Given the description of an element on the screen output the (x, y) to click on. 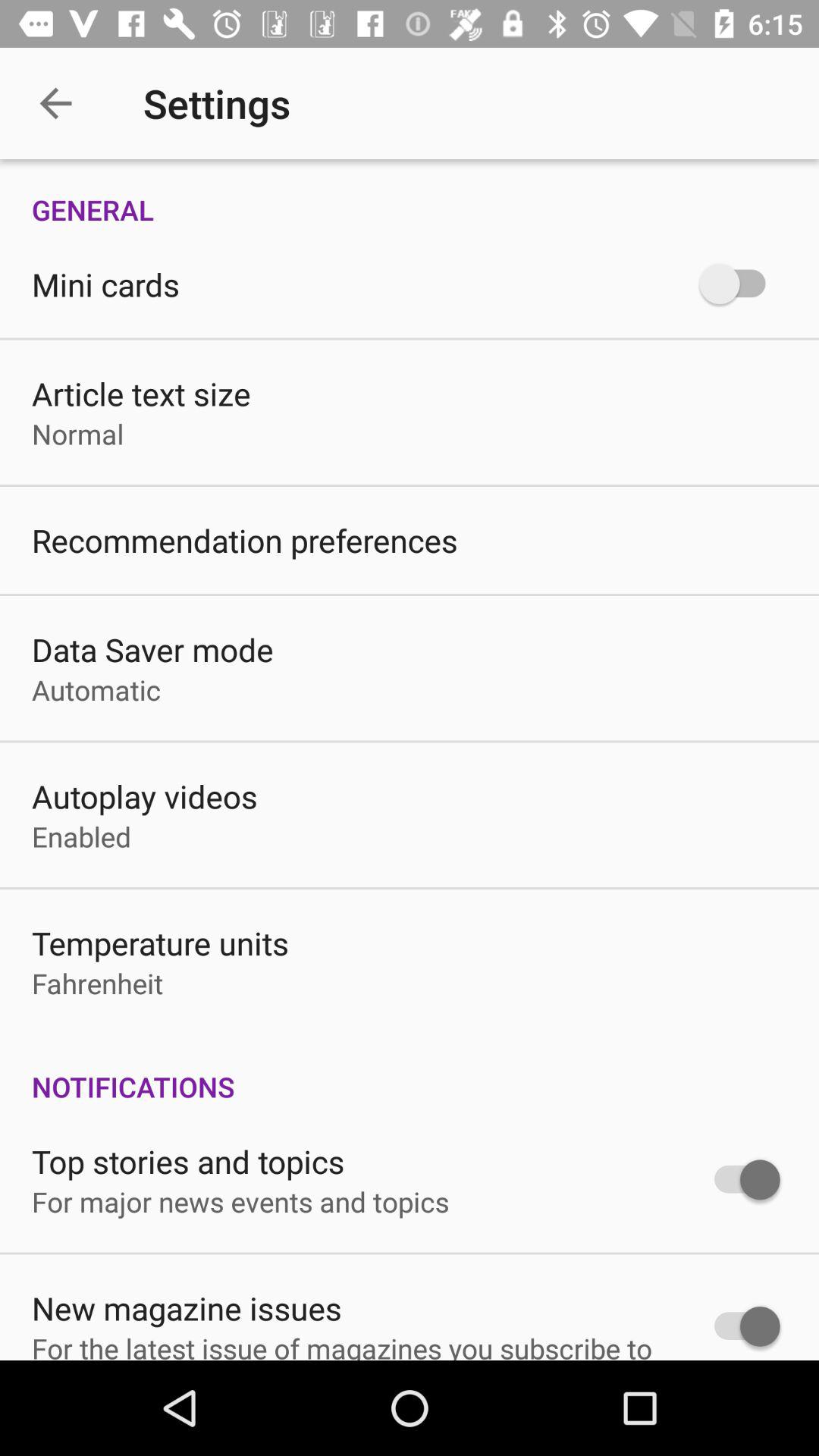
press item below the recommendation preferences icon (152, 649)
